Given the description of an element on the screen output the (x, y) to click on. 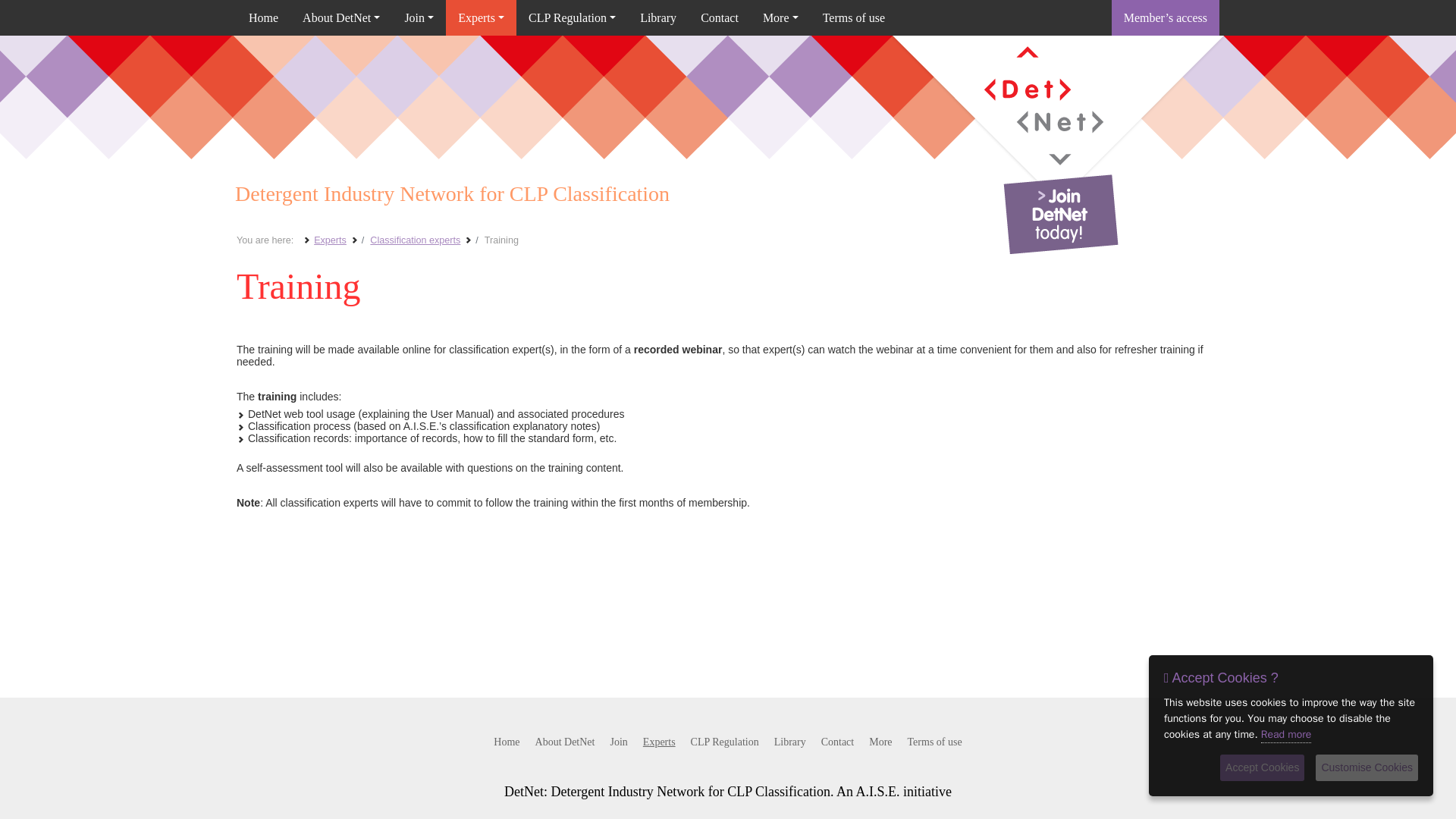
Library (657, 18)
Experts (480, 18)
About DetNet (340, 18)
Contact (719, 18)
More (780, 18)
CLP Regulation (571, 18)
DetNet (1058, 121)
Join (418, 18)
Join DetNet today ! (1060, 214)
Home (262, 18)
